Given the description of an element on the screen output the (x, y) to click on. 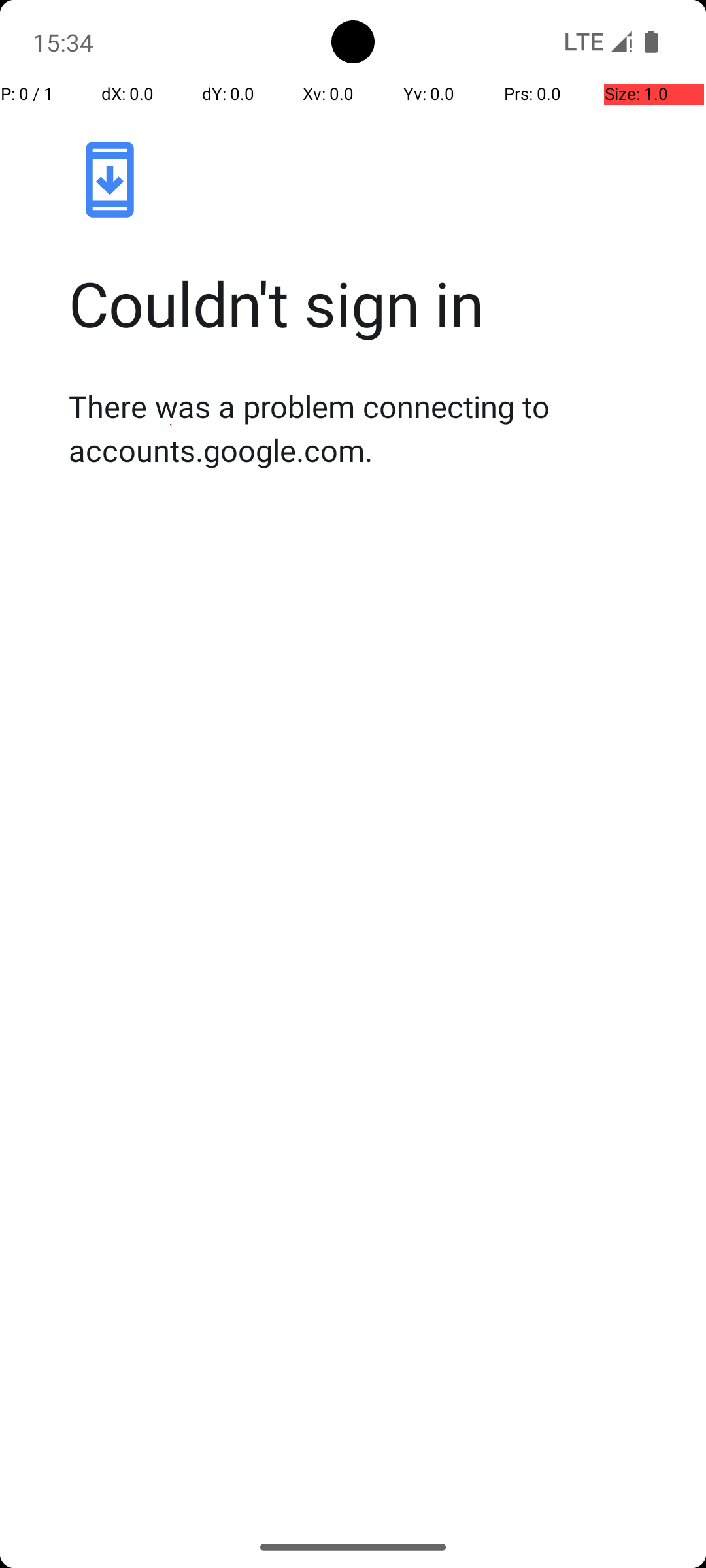
Couldn't sign in Element type: android.widget.TextView (366, 302)
There was a problem connecting to accounts.google.com. Element type: android.widget.TextView (366, 427)
